Given the description of an element on the screen output the (x, y) to click on. 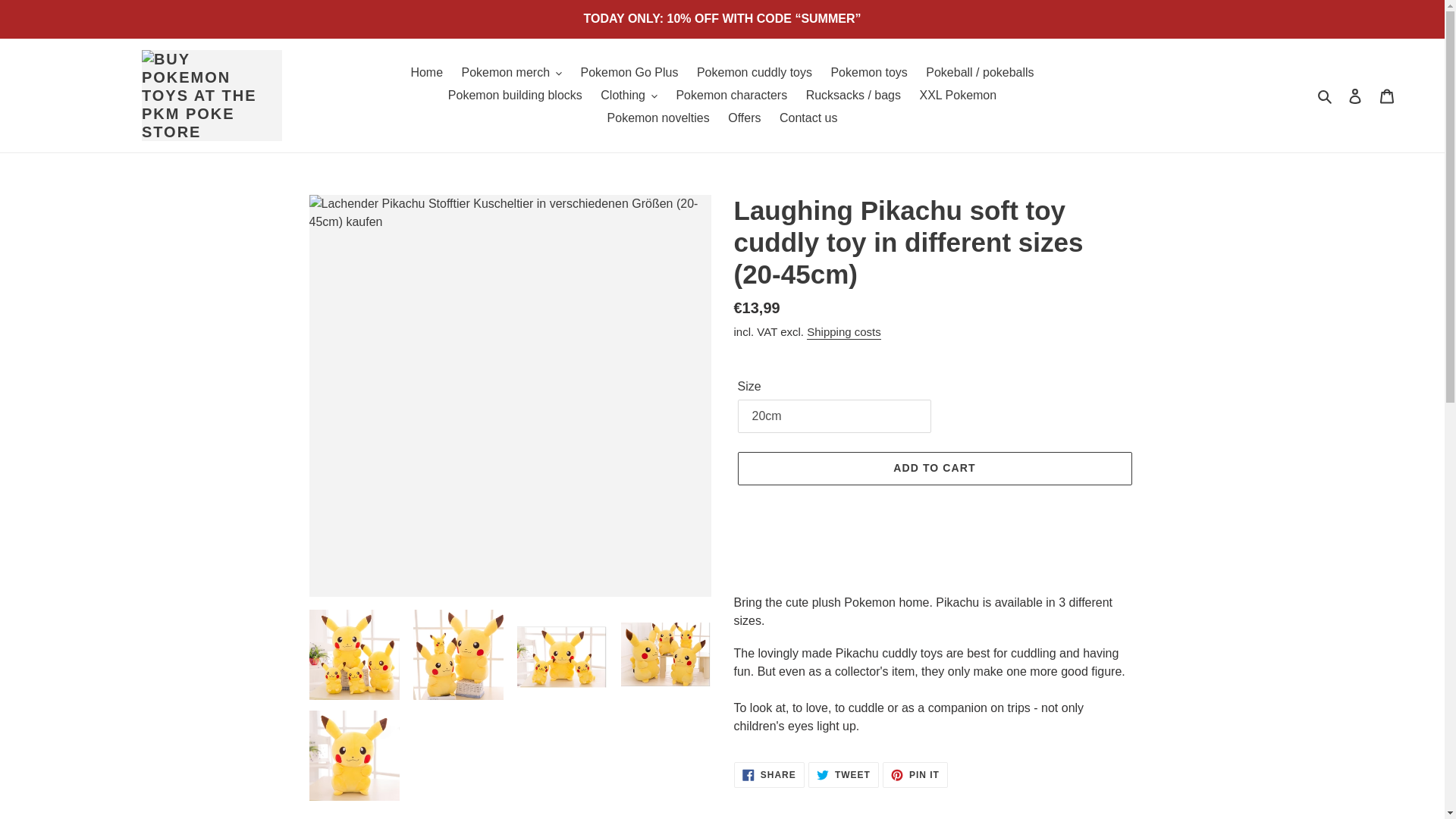
Pokemon novelties (658, 118)
Pokemon toys (868, 72)
Home (426, 72)
Pokemon Go Plus (629, 72)
Pokemon building blocks (515, 95)
Clothing (628, 95)
Pokemon merch (512, 72)
Pokemon cuddly toys (753, 72)
XXL Pokemon (957, 95)
Pokemon characters (731, 95)
